Given the description of an element on the screen output the (x, y) to click on. 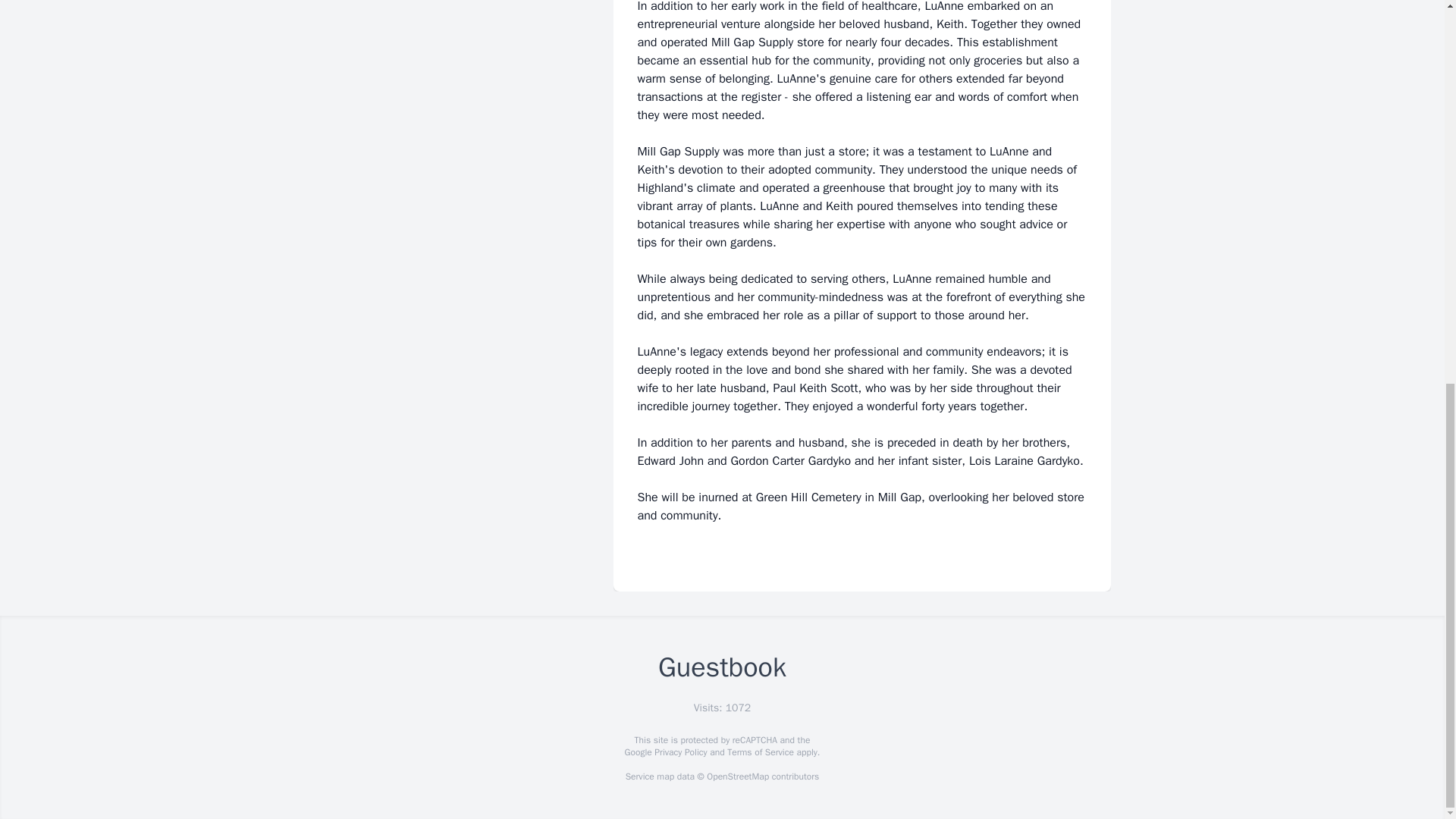
Privacy Policy (679, 752)
Terms of Service (759, 752)
OpenStreetMap (737, 776)
